Given the description of an element on the screen output the (x, y) to click on. 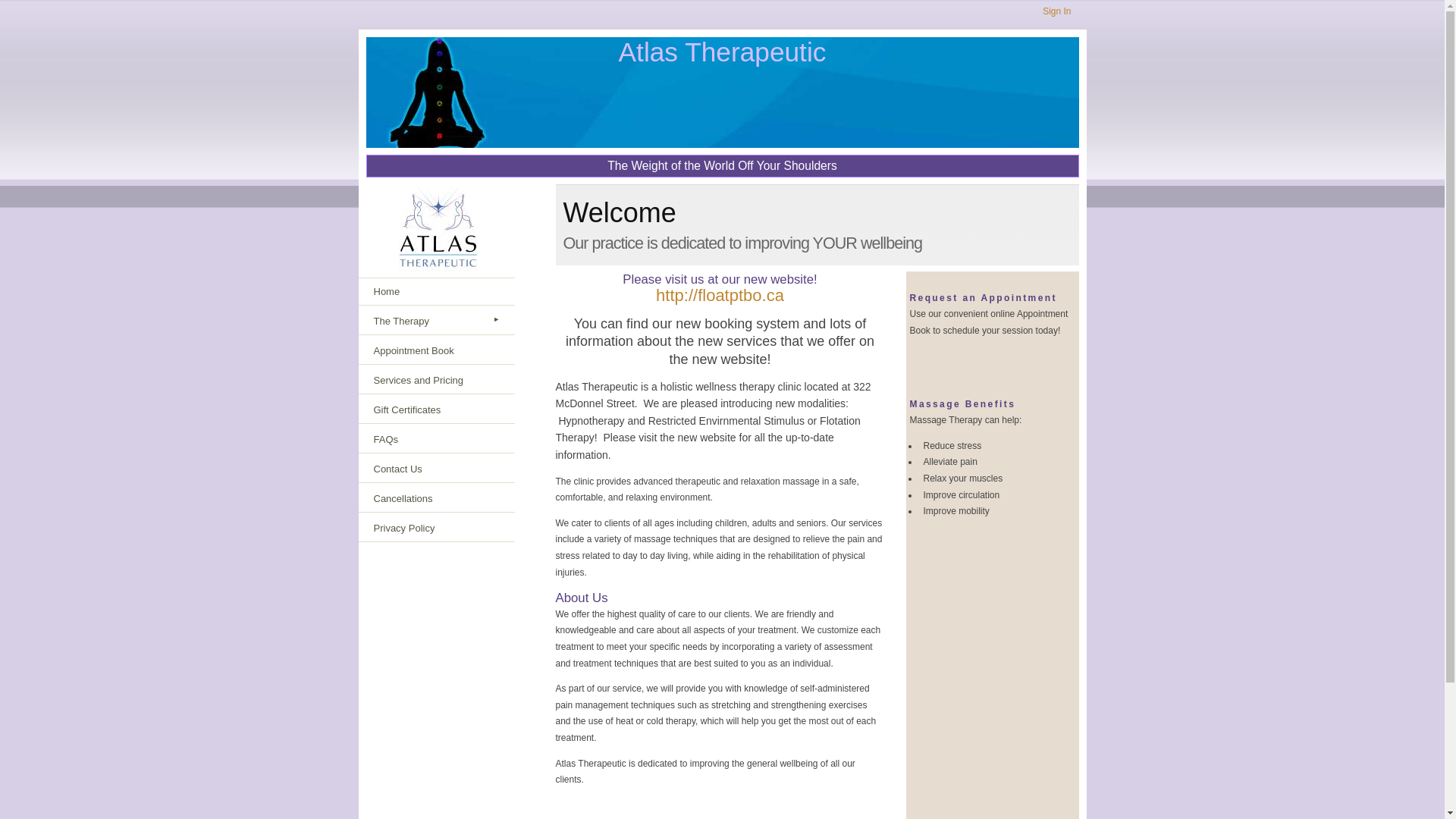
Privacy Policy Element type: text (435, 528)
The Therapy Element type: text (435, 321)
Home Element type: text (435, 291)
Cancellations Element type: text (435, 498)
FAQs Element type: text (435, 439)
http://floatptbo.ca Element type: text (719, 294)
Services and Pricing Element type: text (435, 380)
Contact Us Element type: text (435, 469)
Gift Certificates Element type: text (435, 409)
Appointment Book Element type: text (435, 350)
Sign In Element type: text (1056, 11)
